Given the description of an element on the screen output the (x, y) to click on. 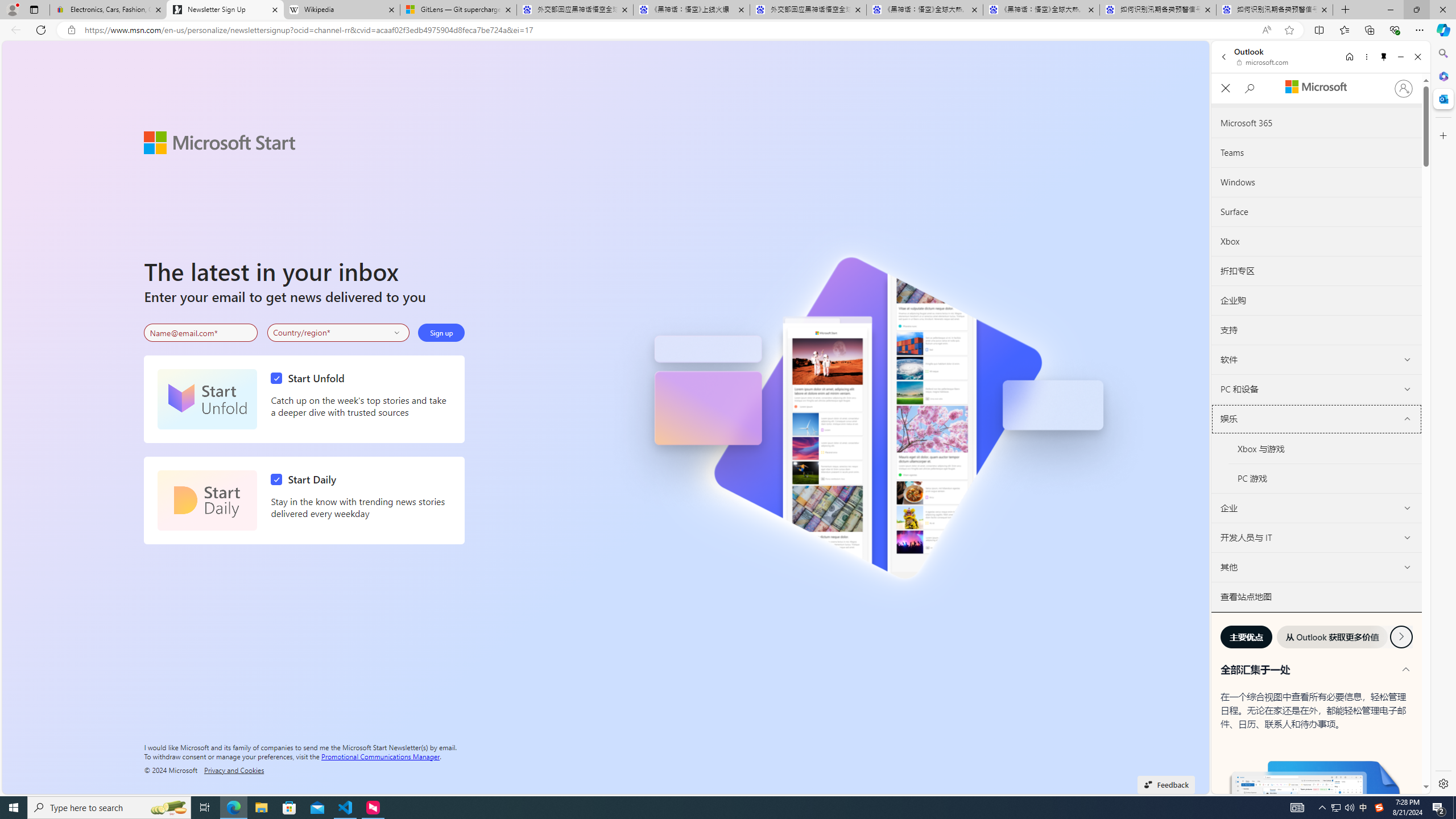
Enter your email (200, 332)
Windows (1316, 182)
Microsoft (1315, 87)
